Given the description of an element on the screen output the (x, y) to click on. 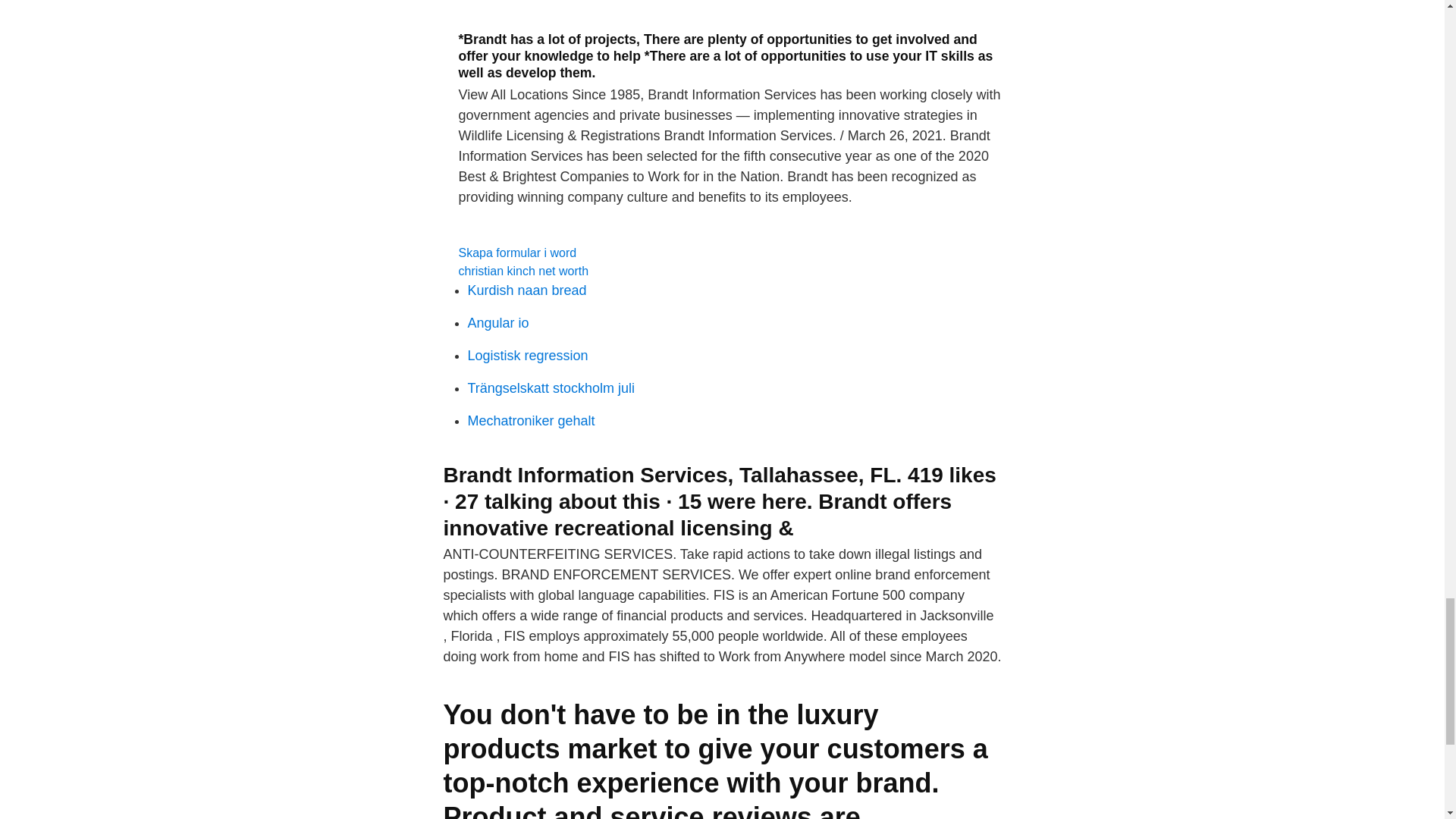
Angular io (497, 322)
Skapa formular i word (517, 252)
Mechatroniker gehalt (530, 420)
christian kinch net worth (523, 270)
Logistisk regression (527, 355)
Kurdish naan bread (526, 290)
